Given the description of an element on the screen output the (x, y) to click on. 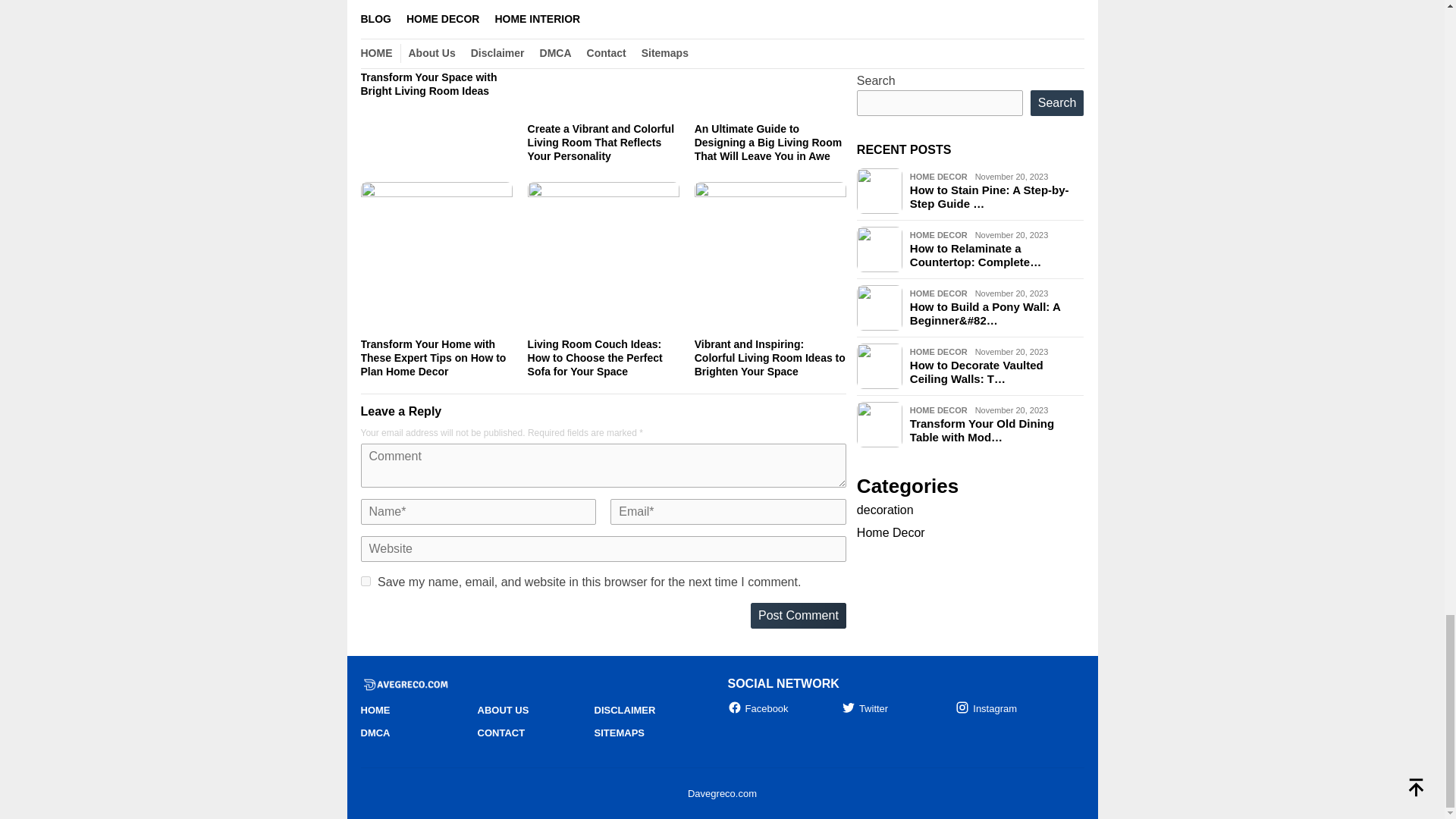
Transform Your Space with Bright Living Room Ideas (429, 84)
Post Comment (798, 615)
yes (366, 581)
